Given the description of an element on the screen output the (x, y) to click on. 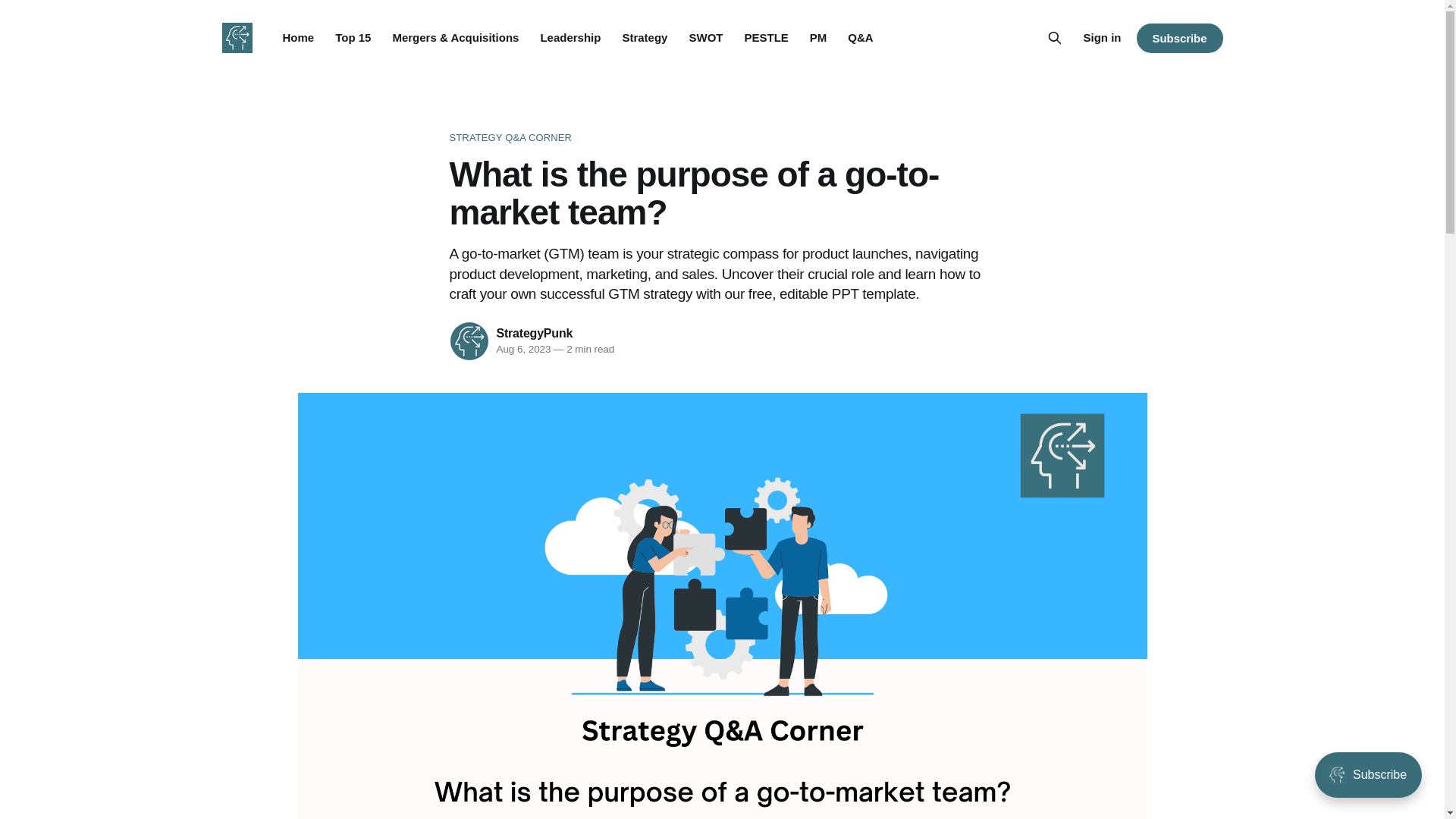
Subscribe (1179, 37)
PESTLE (765, 37)
Strategy (643, 37)
Leadership (569, 37)
Top 15 (352, 37)
StrategyPunk (534, 332)
PM (818, 37)
Home (298, 37)
SWOT (705, 37)
Sign in (1102, 37)
